Given the description of an element on the screen output the (x, y) to click on. 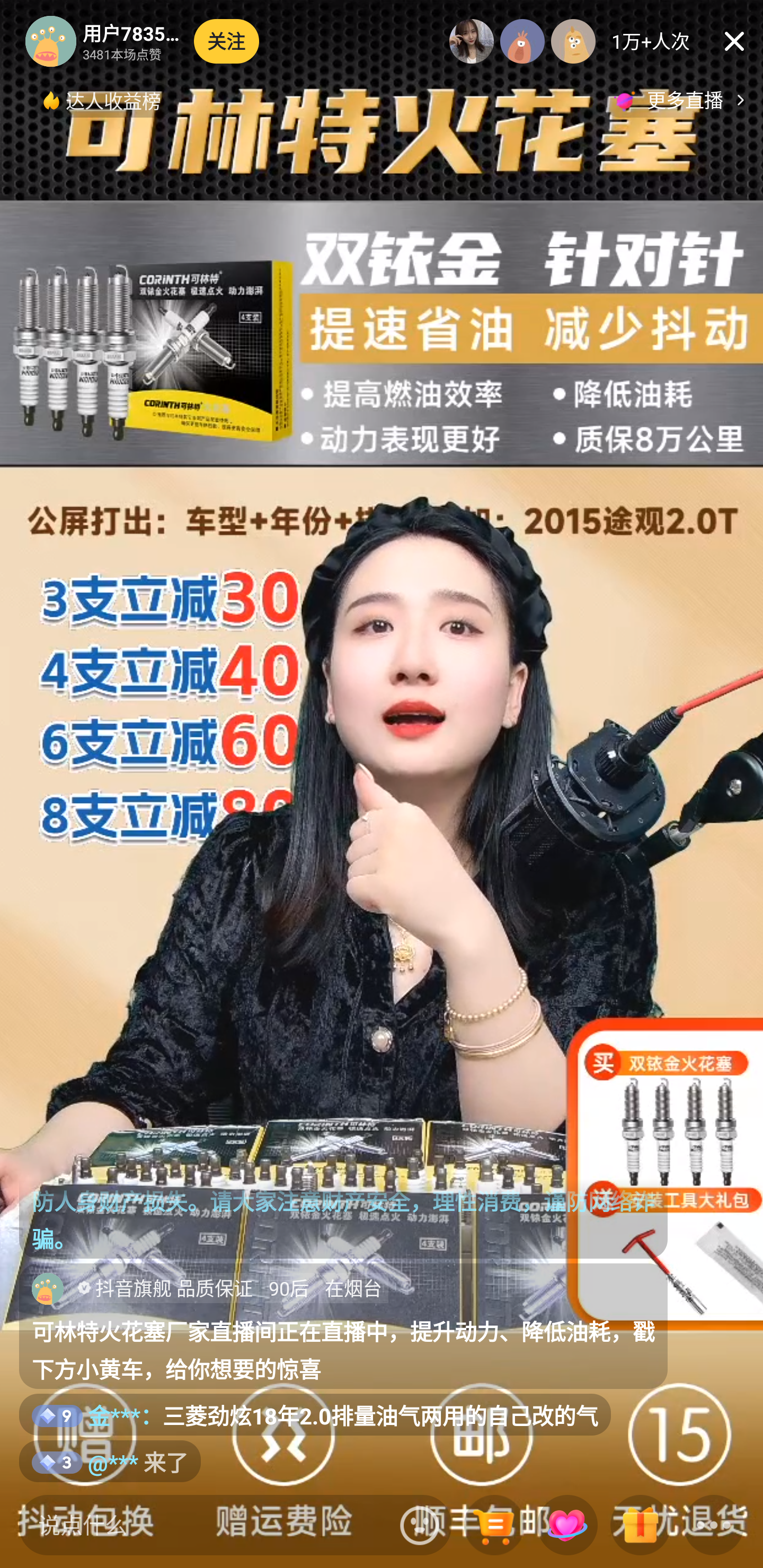
榜一 X*** (471, 41)
榜二 想*** (522, 41)
榜三 朋*** (572, 41)
1万+人次 (650, 41)
关注 (226, 41)
关闭 (733, 41)
达人收益榜，按钮 (102, 100)
更多直播 (682, 100)
* 金***：三菱劲炫18年2.0排量油气两用的自己改的气 (315, 1414)
* @*** 来了 (109, 1460)
说点什么 (205, 1524)
表情入口 (419, 1524)
商品列表 (493, 1526)
商品列表 (493, 1526)
小心心 (567, 1526)
礼物 (640, 1526)
更多面板 按钮 (713, 1526)
